Given the description of an element on the screen output the (x, y) to click on. 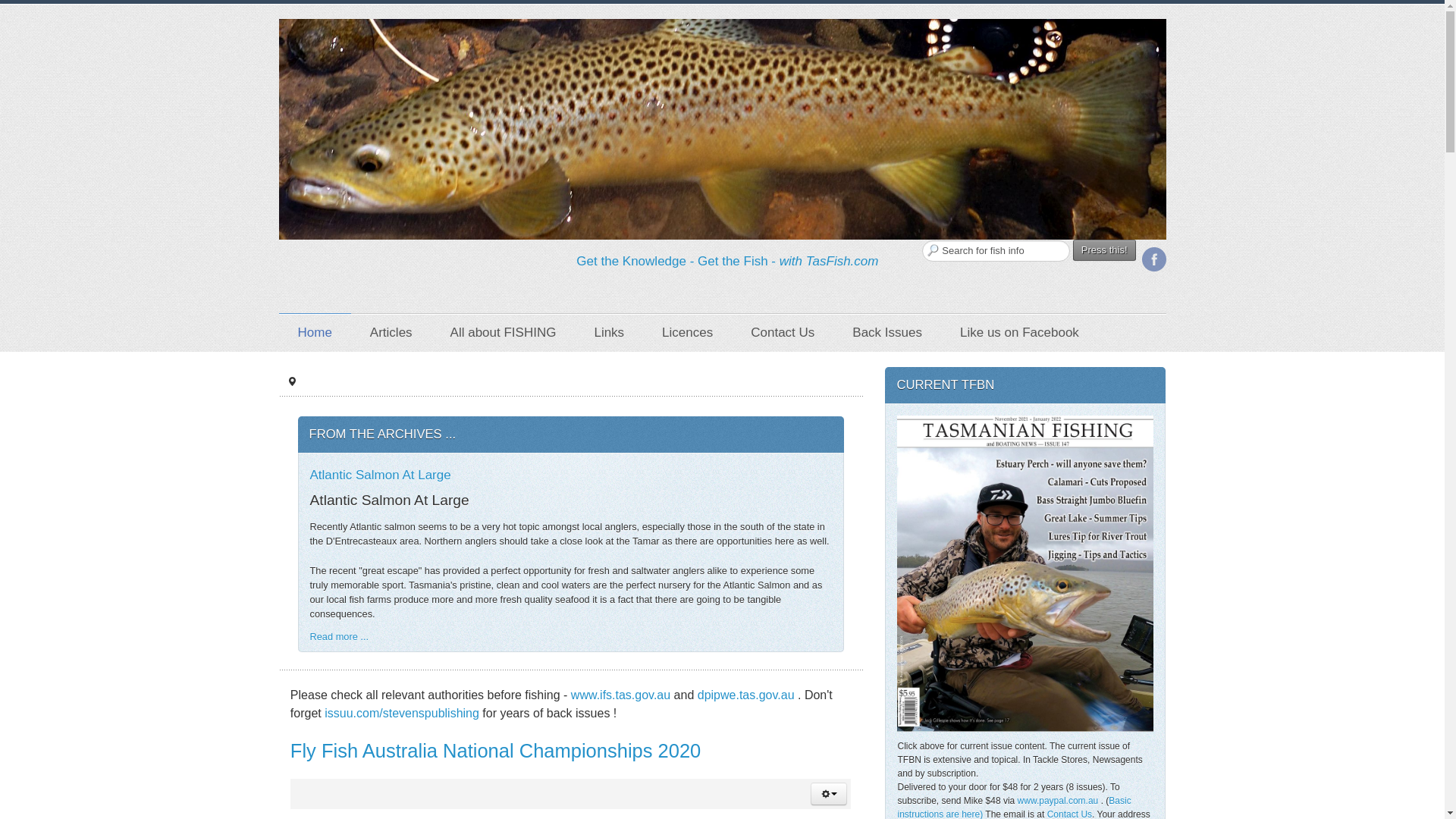
Licences (687, 332)
Atlantic Salmon At Large (378, 474)
Back Issues (886, 332)
Get the Knowledge - Get the Fish - with TasFish.com (726, 260)
Press this! (1104, 250)
Facebook (1153, 259)
Like us on Facebook (1018, 332)
Links (609, 332)
You are here:  (291, 381)
Search for fish info (995, 250)
